Given the description of an element on the screen output the (x, y) to click on. 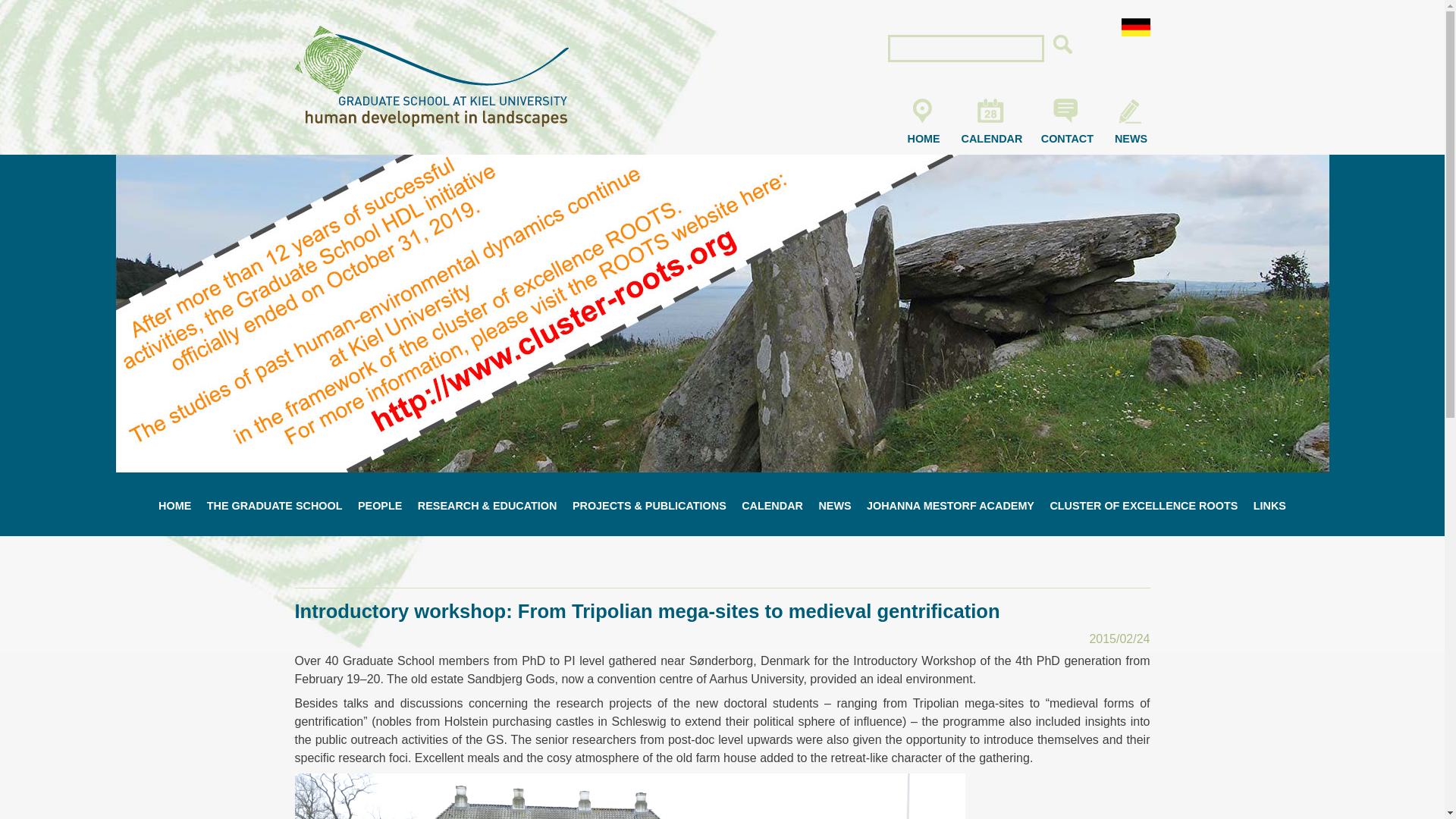
Search (1064, 47)
Human Development in Landscapes (430, 130)
Search (1064, 47)
CONTACT (1067, 121)
CALENDAR (991, 121)
THE GRADUATE SCHOOL (274, 505)
PEOPLE (379, 505)
